Given the description of an element on the screen output the (x, y) to click on. 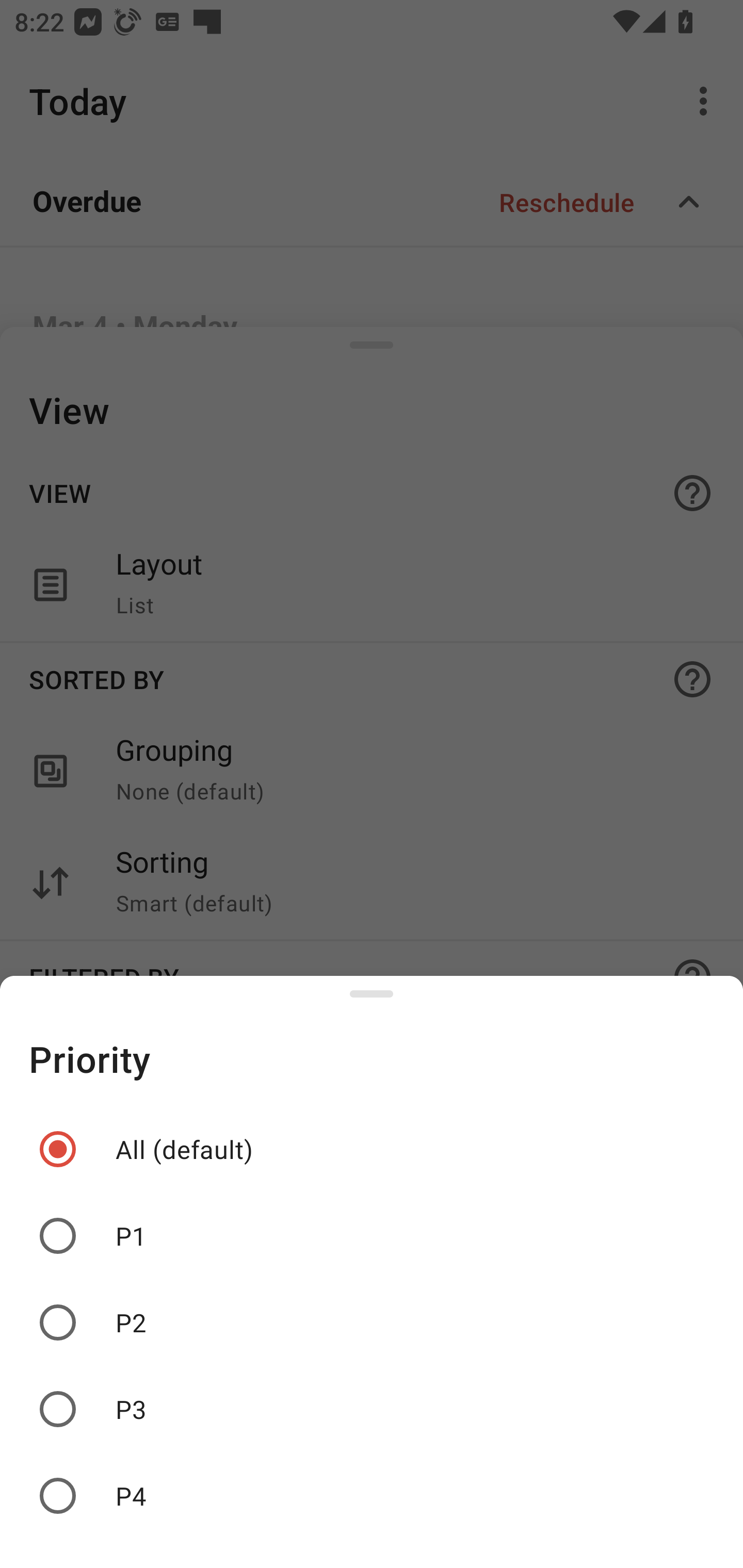
All (default) (371, 1149)
P1 (371, 1236)
P2 (371, 1322)
P3 (371, 1408)
P4 (371, 1495)
